Given the description of an element on the screen output the (x, y) to click on. 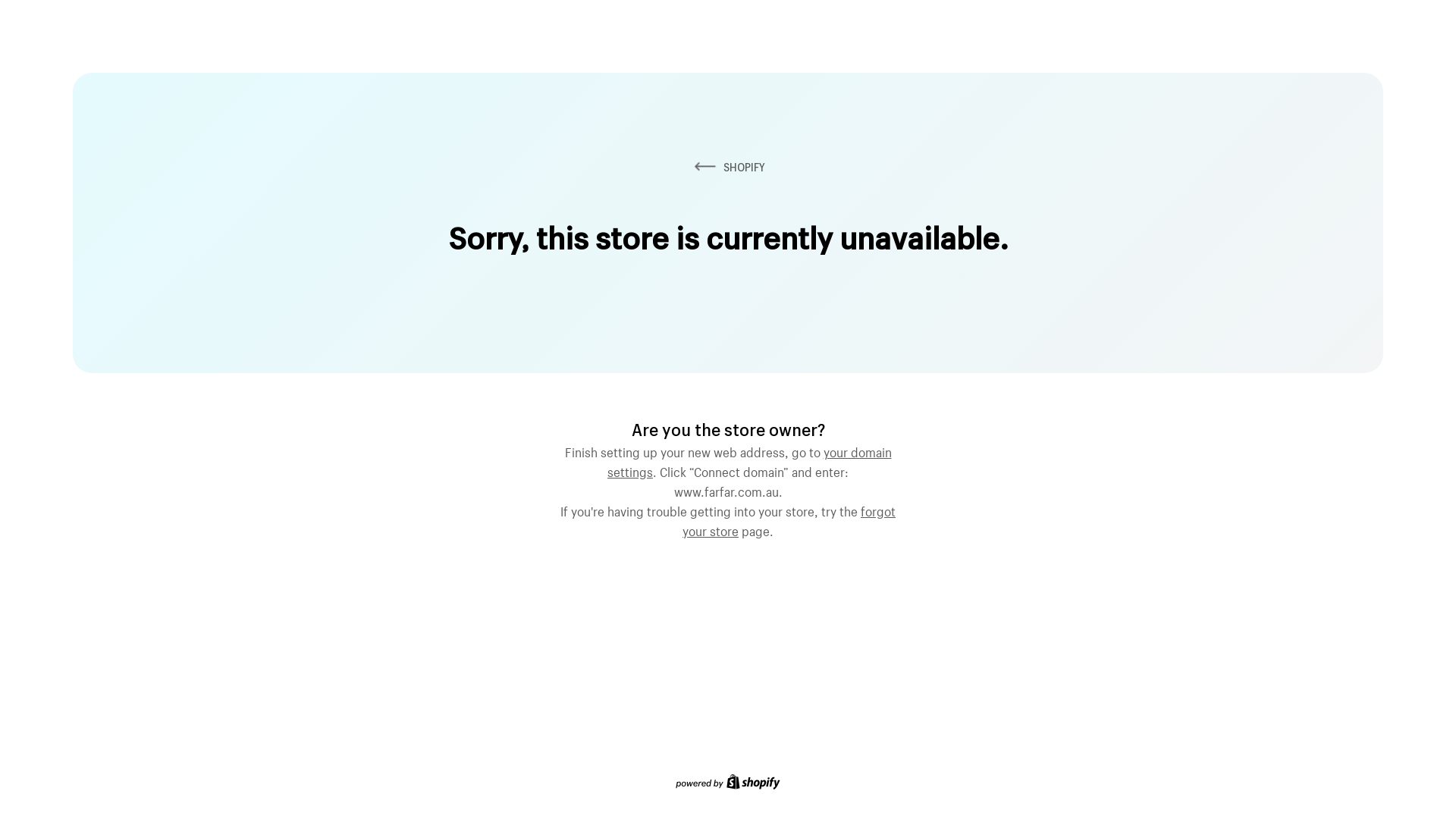
your domain settings Element type: text (749, 460)
forgot your store Element type: text (788, 519)
SHOPIFY Element type: text (727, 167)
